Given the description of an element on the screen output the (x, y) to click on. 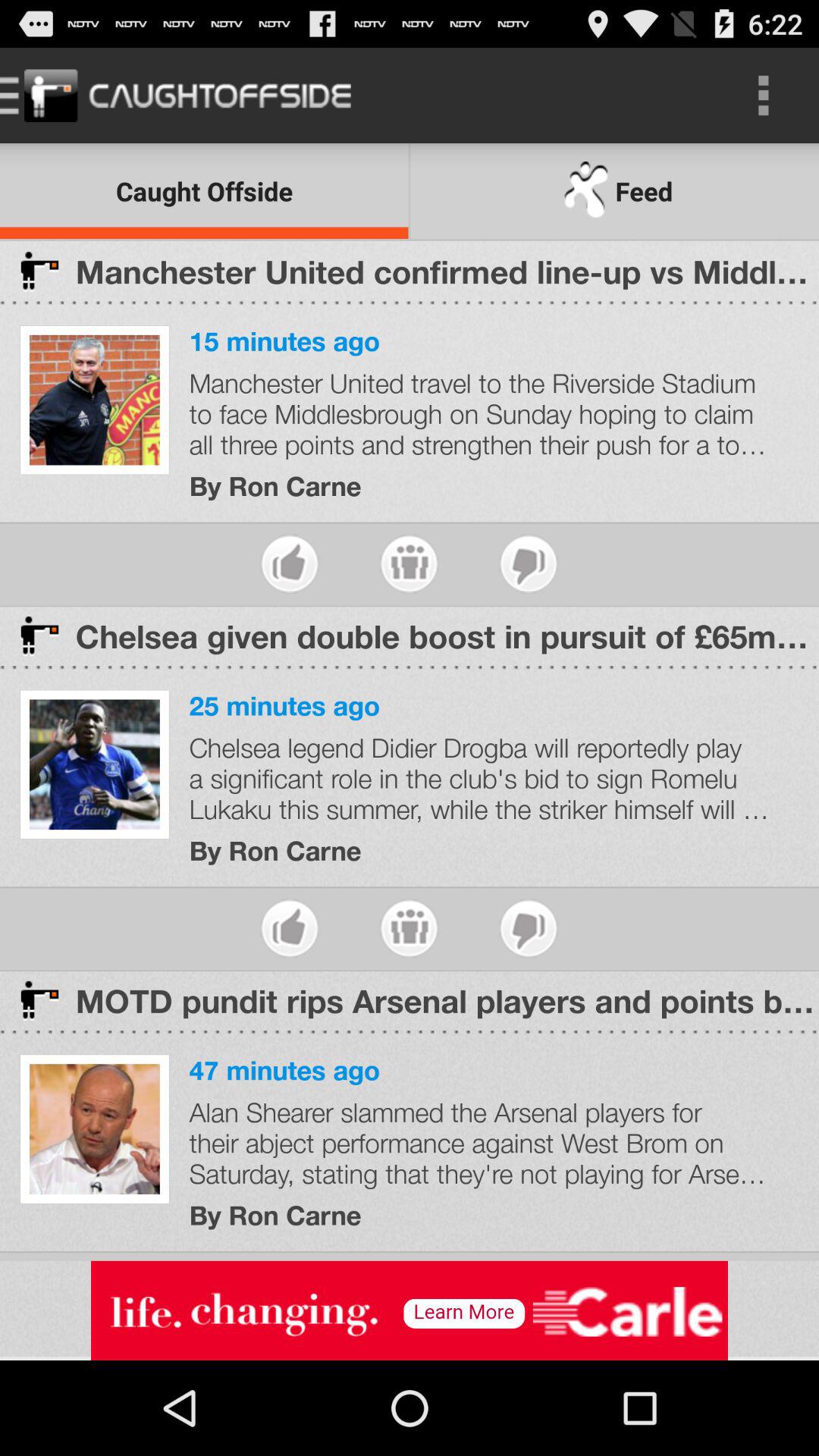
like this article (289, 928)
